Given the description of an element on the screen output the (x, y) to click on. 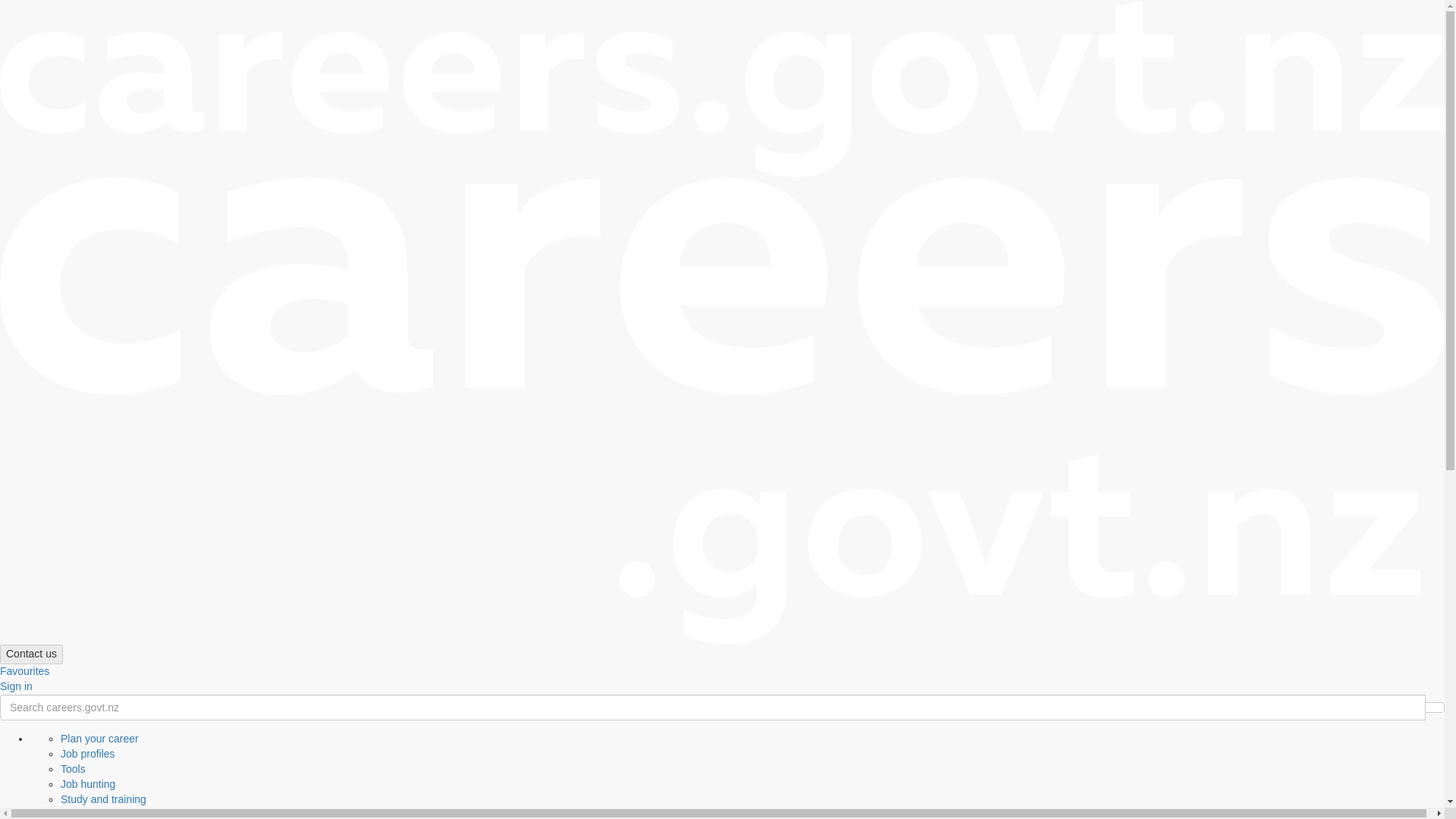
Search (31, 654)
Skip to main content (712, 707)
Ministry of Fisheries (78, 21)
Skip to footer (712, 176)
Skip to main navigation (61, 51)
Search (84, 6)
Favourites (1434, 706)
Sign in (70, 37)
